Given the description of an element on the screen output the (x, y) to click on. 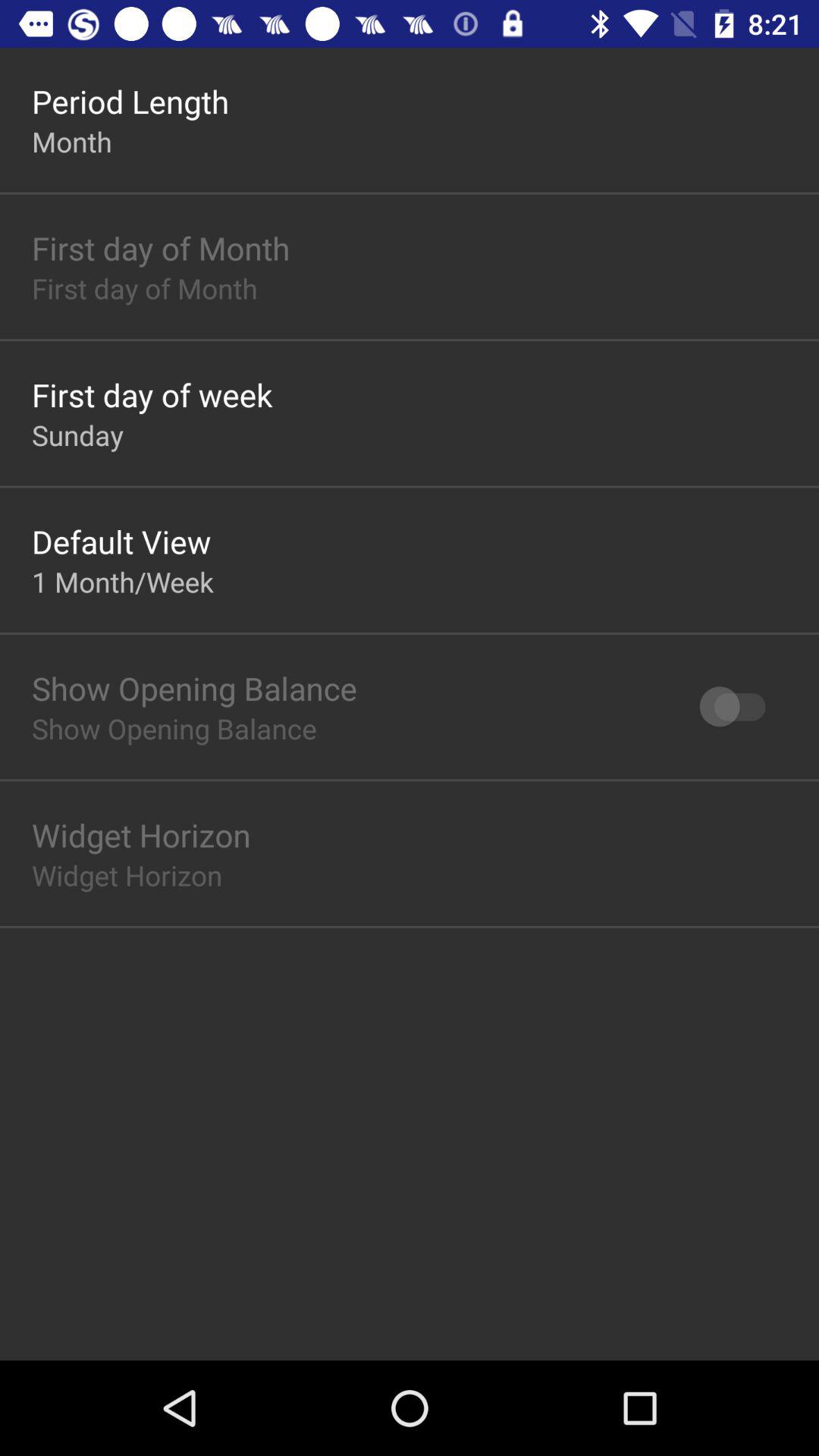
click icon on the right (739, 706)
